Given the description of an element on the screen output the (x, y) to click on. 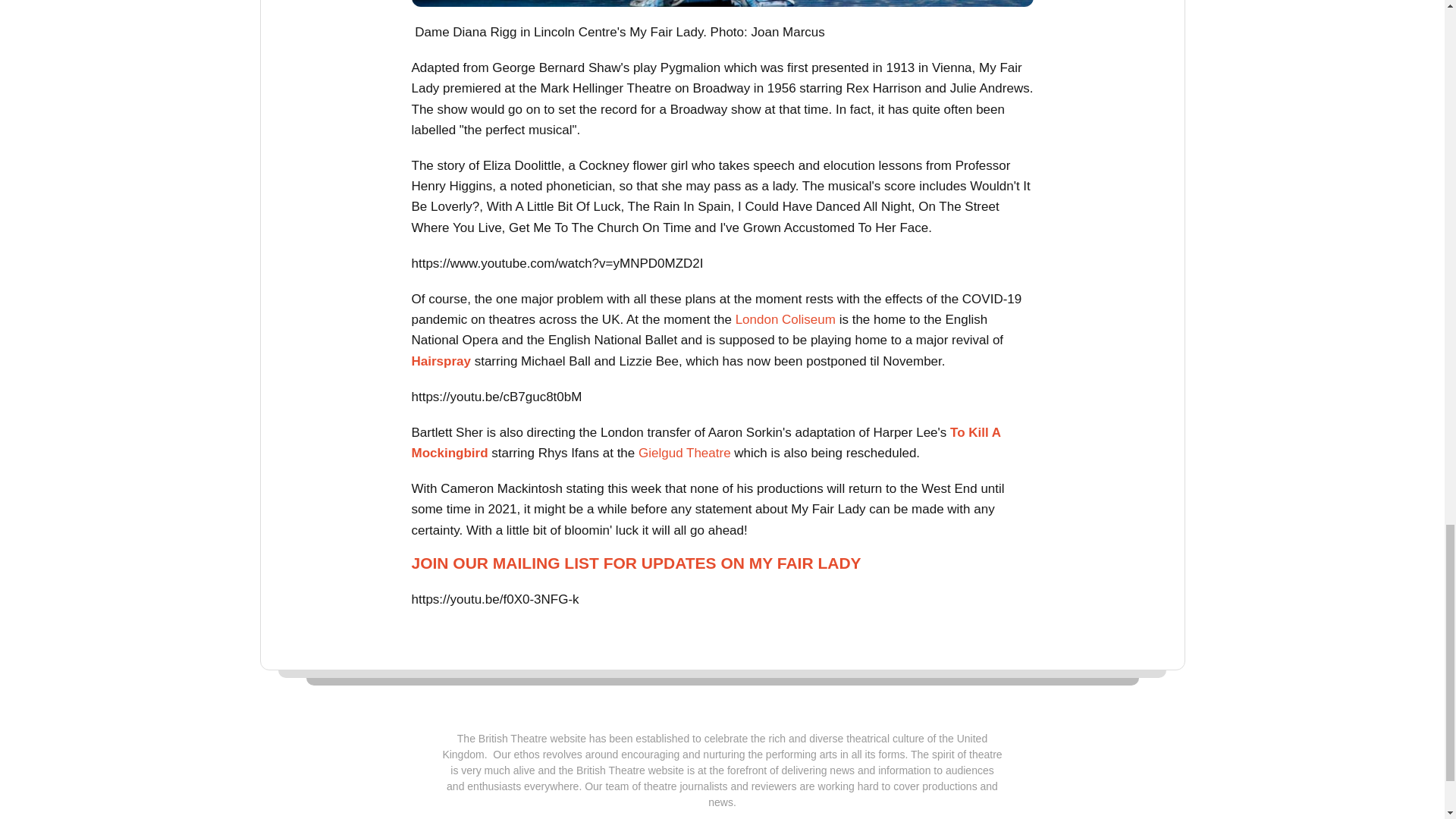
Gielgud Theatre (684, 452)
JOIN OUR MAILING LIST FOR UPDATES ON MY FAIR LADY (635, 562)
Hairspray (440, 359)
To Kill A Mockingbird (707, 442)
London Coliseum (785, 319)
